Given the description of an element on the screen output the (x, y) to click on. 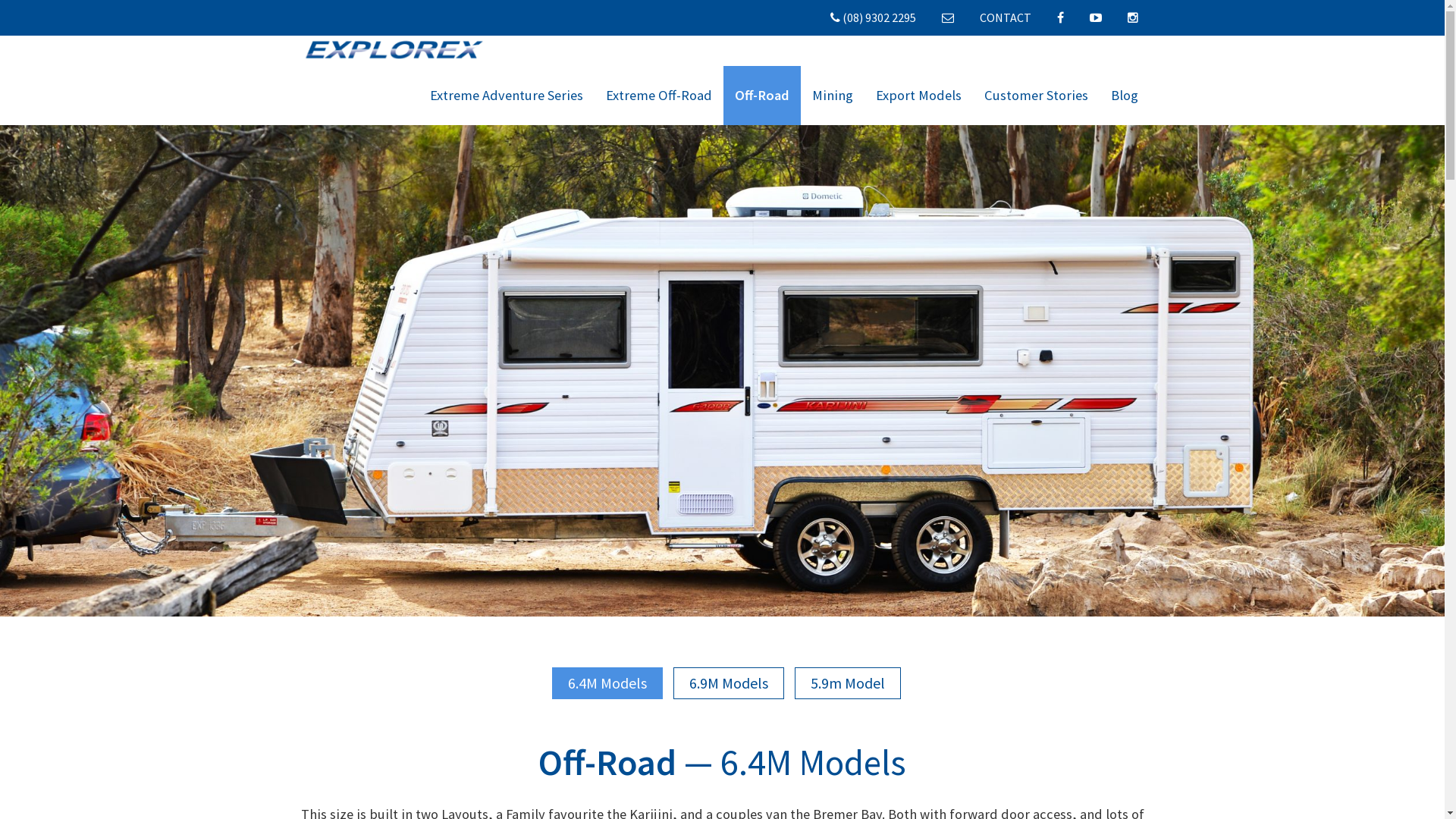
CONTACT Element type: text (1005, 17)
Customer Stories Element type: text (1035, 95)
Off-Road Element type: text (761, 95)
Blog Element type: text (1124, 95)
Extreme Off-Road Element type: text (658, 95)
(08) 9302 2295 Element type: text (873, 17)
6.9M Models Element type: text (728, 683)
Mining Element type: text (832, 95)
6.4M Models Element type: text (607, 683)
5.9m Model Element type: text (847, 683)
Export Models Element type: text (918, 95)
Extreme Adventure Series Element type: text (506, 95)
